Given the description of an element on the screen output the (x, y) to click on. 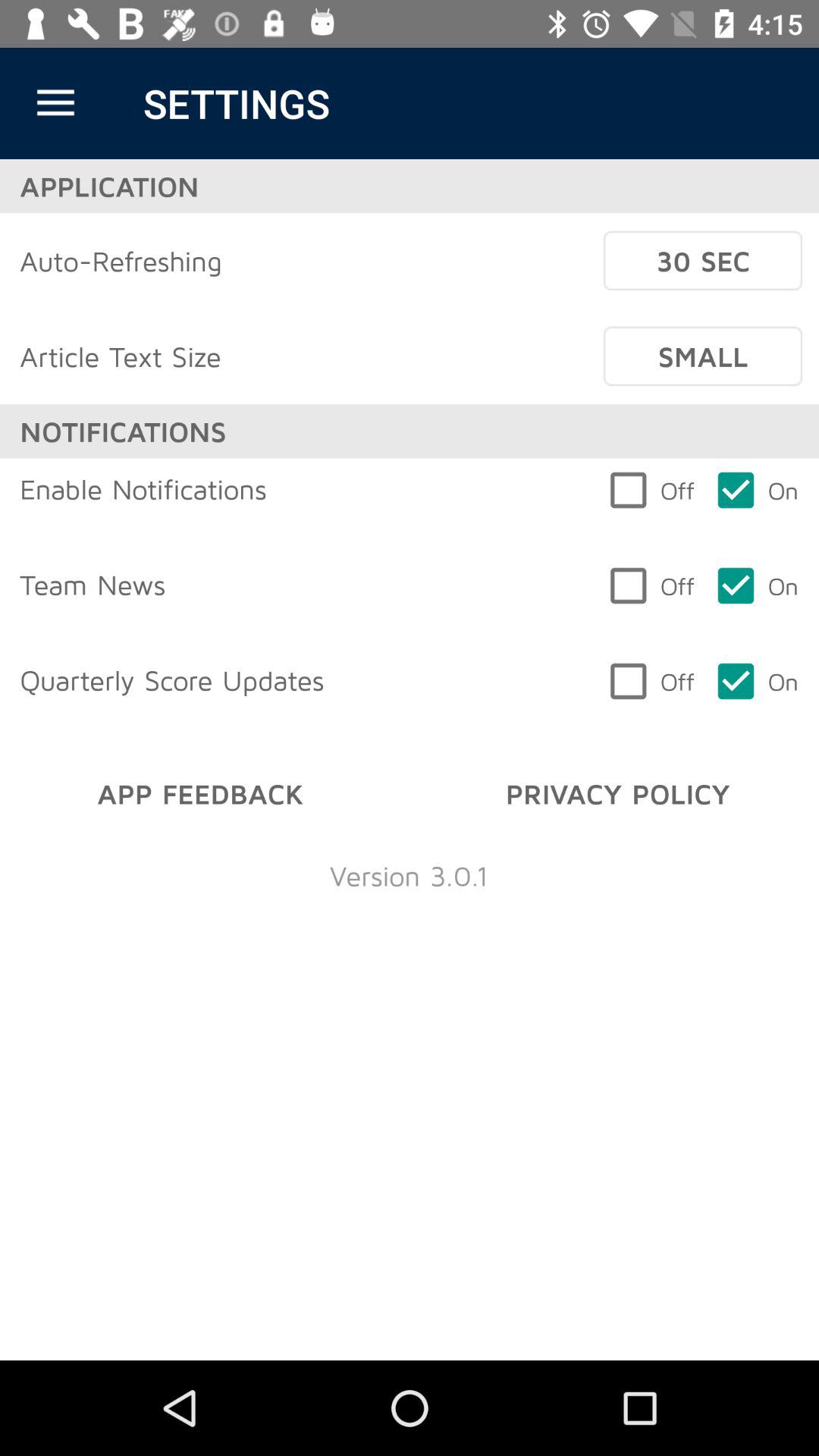
jump until the version 3 0 item (408, 875)
